Given the description of an element on the screen output the (x, y) to click on. 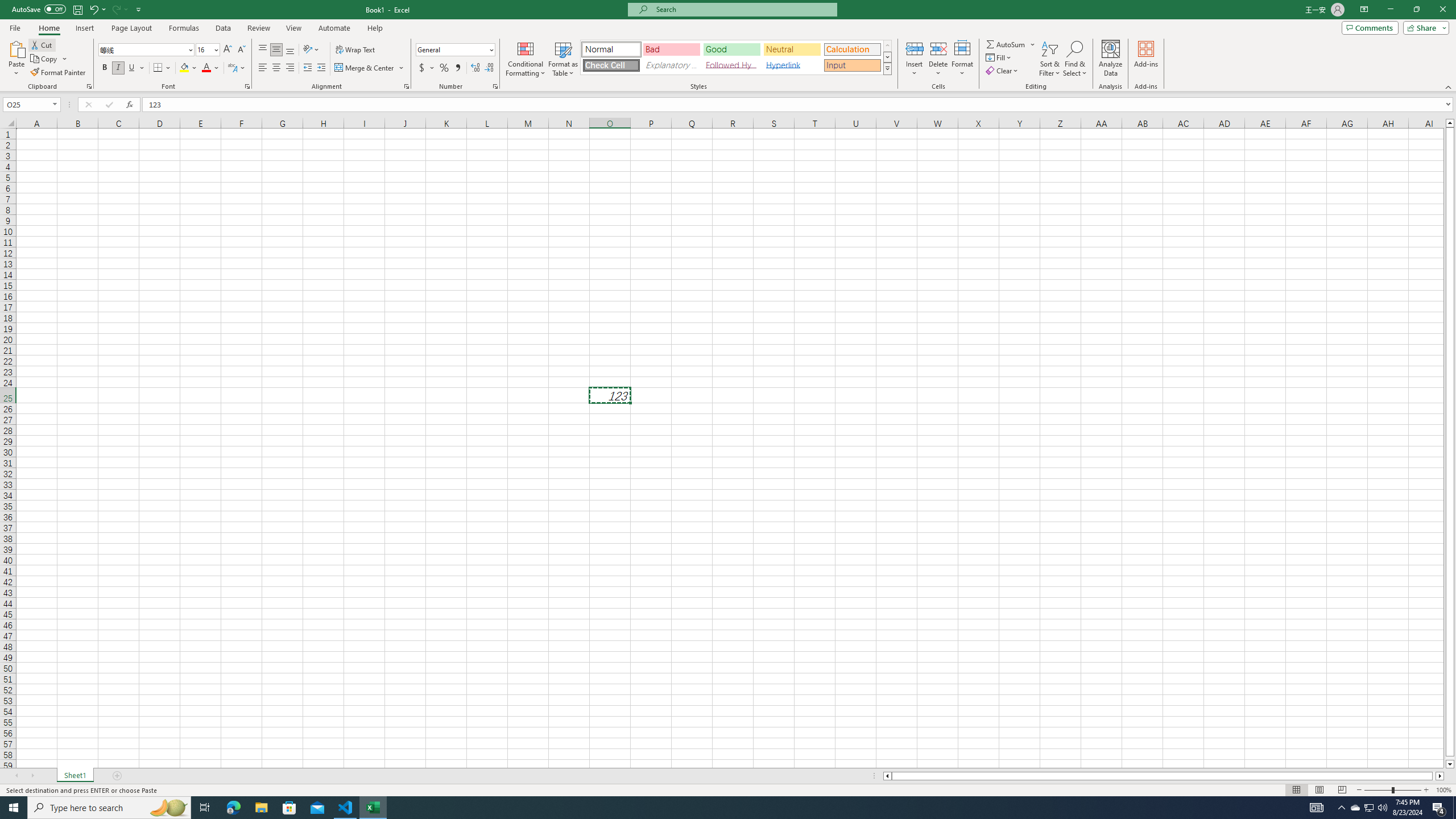
Italic (118, 67)
AutomationID: CellStylesGallery (736, 57)
Fill (999, 56)
Find & Select (1075, 58)
Office Clipboard... (88, 85)
Decrease Decimal (489, 67)
